Given the description of an element on the screen output the (x, y) to click on. 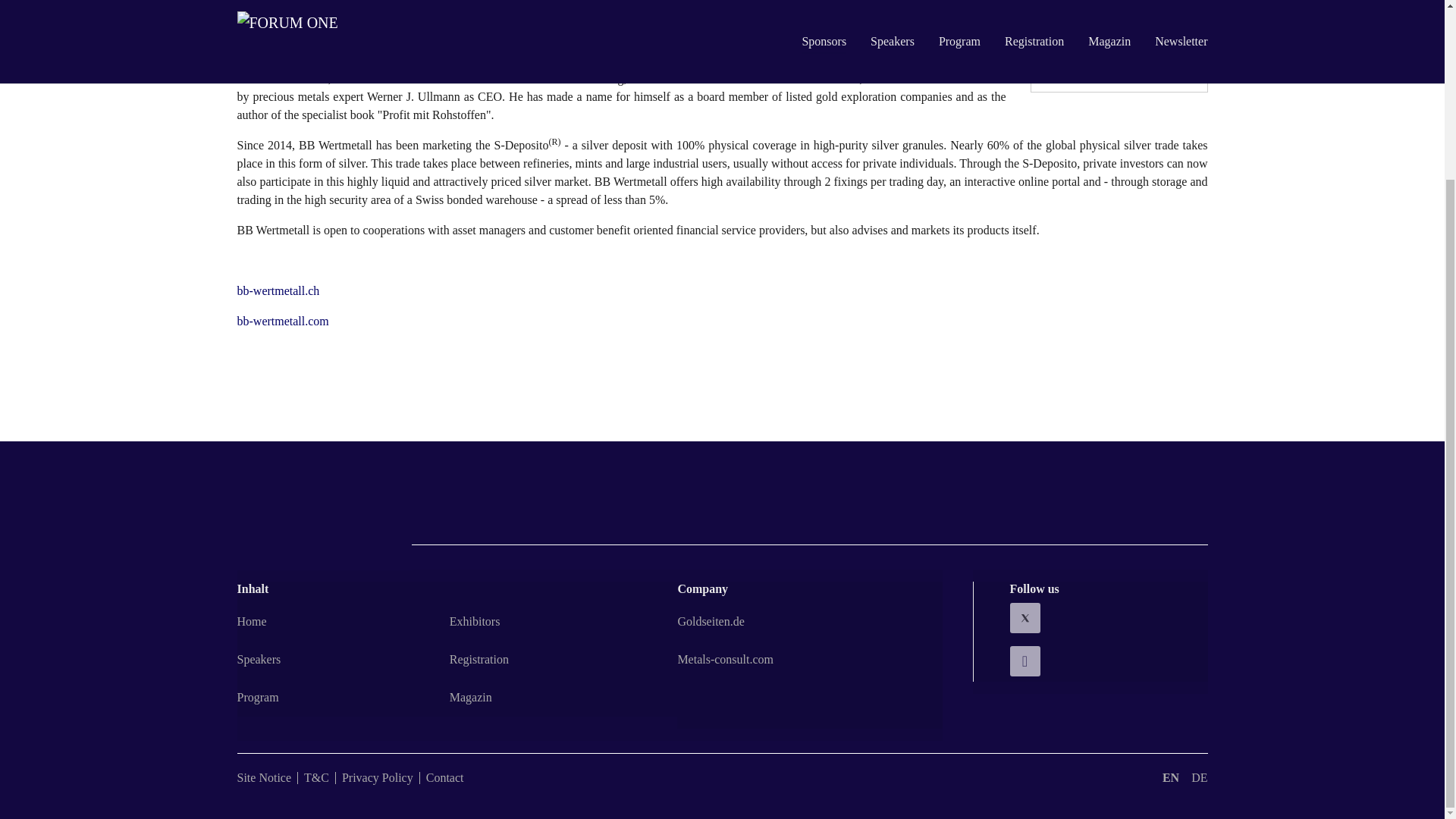
Privacy Policy (377, 777)
Contact (445, 777)
Contact (445, 777)
Home (250, 621)
Metals-consult.com (725, 658)
English (1170, 777)
bb-wertmetall.ch (276, 290)
Speakers (258, 658)
EN (1170, 777)
YouTube (1109, 662)
